Given the description of an element on the screen output the (x, y) to click on. 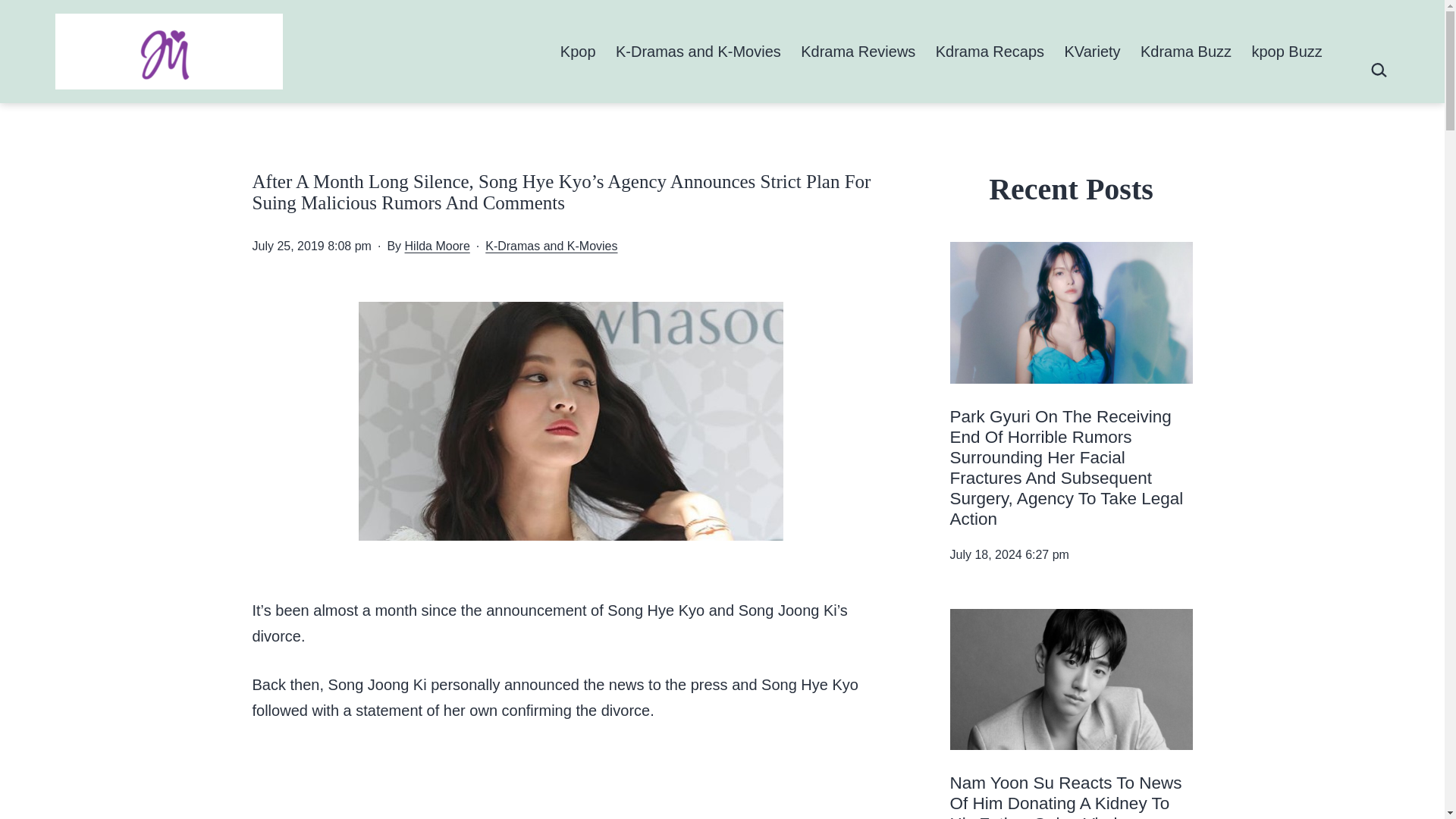
KVariety (1091, 50)
Kdrama Recaps (990, 50)
Song Hye Kyo (570, 421)
K-Dramas and K-Movies (550, 245)
K-Dramas and K-Movies (697, 50)
kpop Buzz (1286, 50)
Kdrama Reviews (858, 50)
Park Gyuri (1070, 312)
Nam Yoon Su (1070, 680)
Hilda Moore (437, 245)
Kdrama Buzz (1186, 50)
Kpop (577, 50)
